Given the description of an element on the screen output the (x, y) to click on. 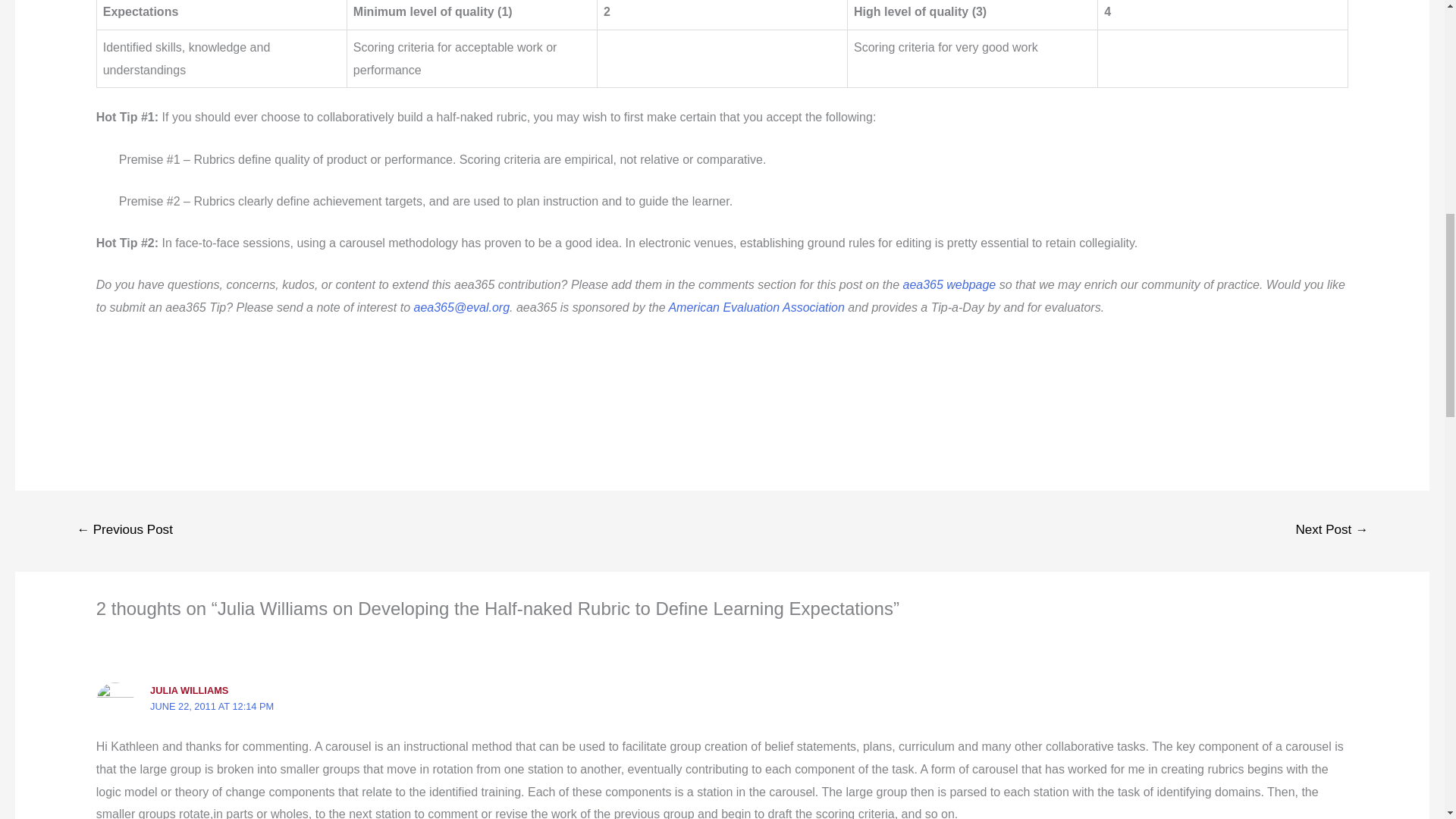
aea365 webpage (947, 284)
American Evaluation Association (754, 307)
JUNE 22, 2011 AT 12:14 PM (211, 706)
